Given the description of an element on the screen output the (x, y) to click on. 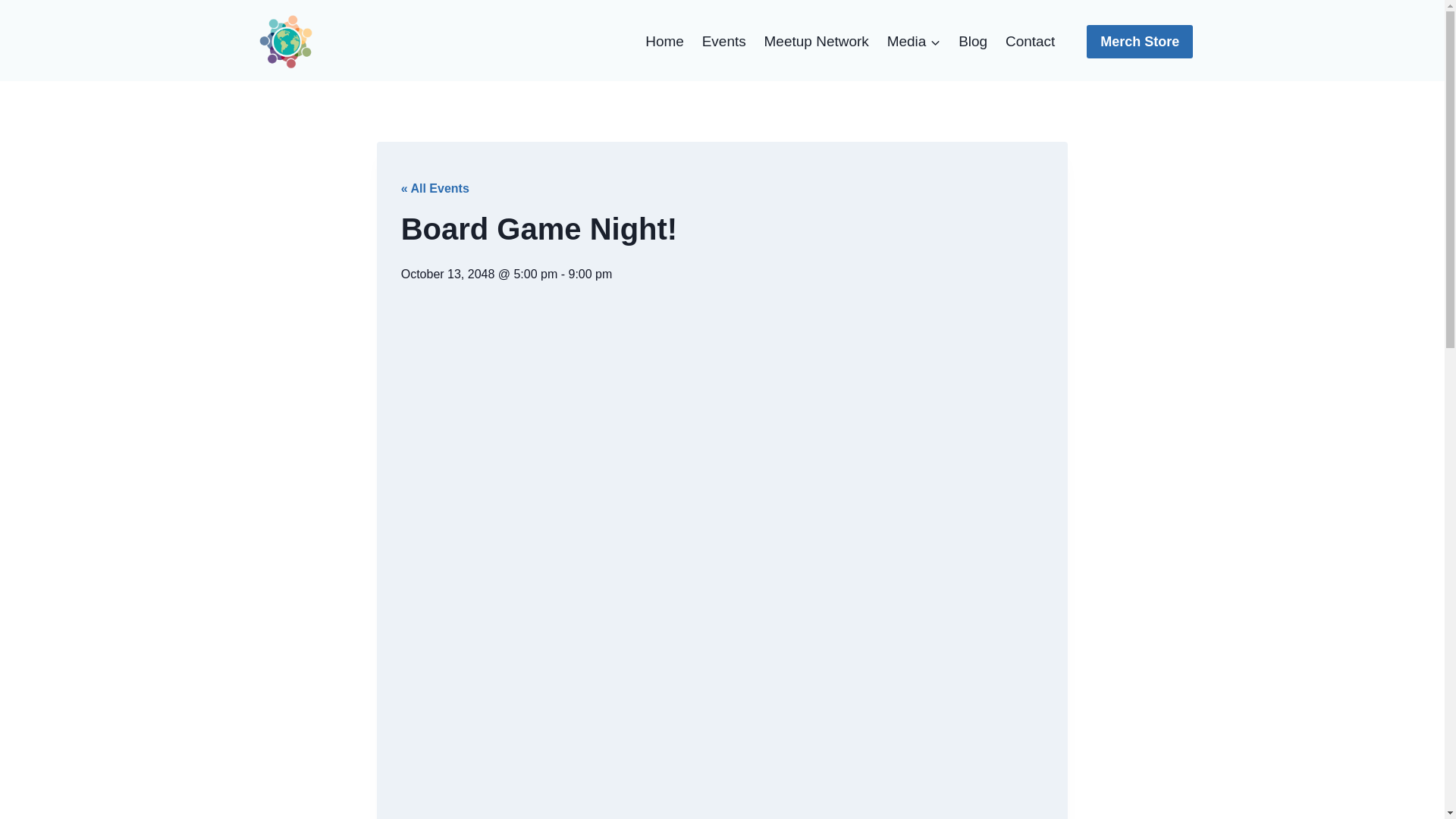
Blog (972, 41)
Contact (1029, 41)
Merch Store (1139, 41)
Meetup Network (816, 41)
Media (913, 41)
Events (724, 41)
Home (664, 41)
